Given the description of an element on the screen output the (x, y) to click on. 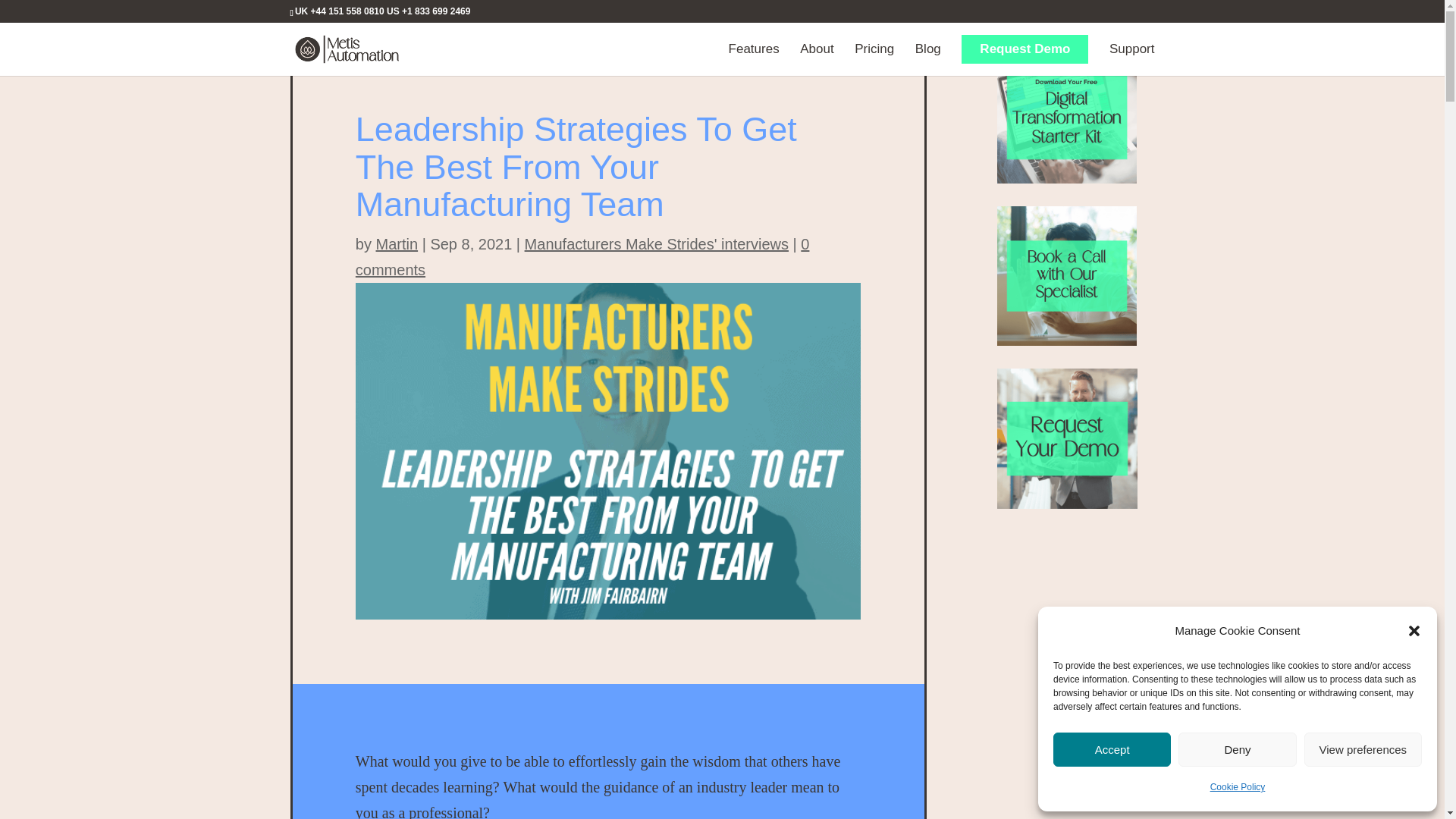
View preferences (1363, 749)
Martin (397, 243)
Pricing (873, 60)
Support (1131, 60)
Request Demo (1023, 49)
Posts by Martin (397, 243)
Features (753, 60)
Manufacturers Make Strides' interviews (656, 243)
Cookie Policy (1237, 786)
